Given the description of an element on the screen output the (x, y) to click on. 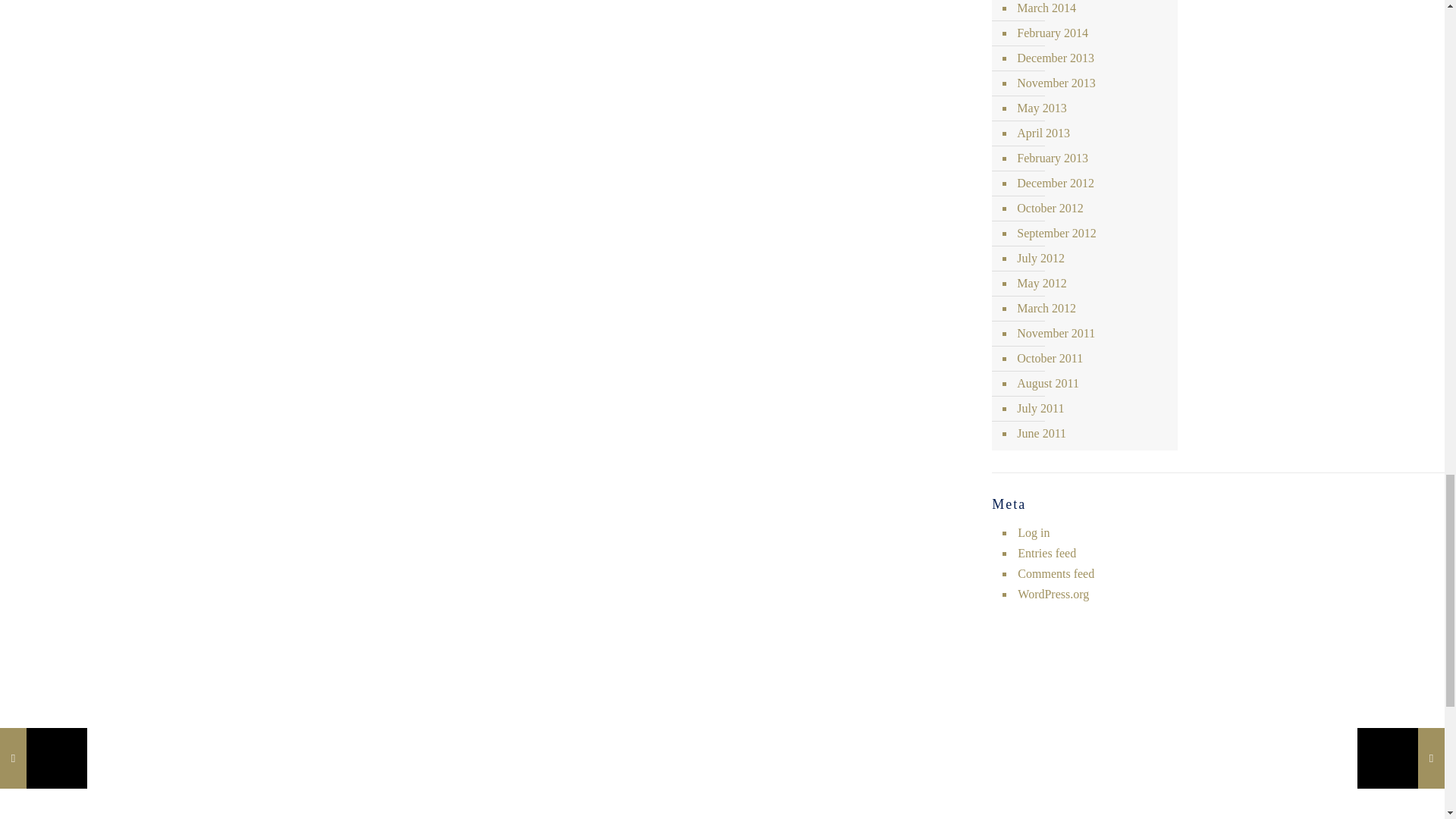
March 2014 (1091, 10)
